Given the description of an element on the screen output the (x, y) to click on. 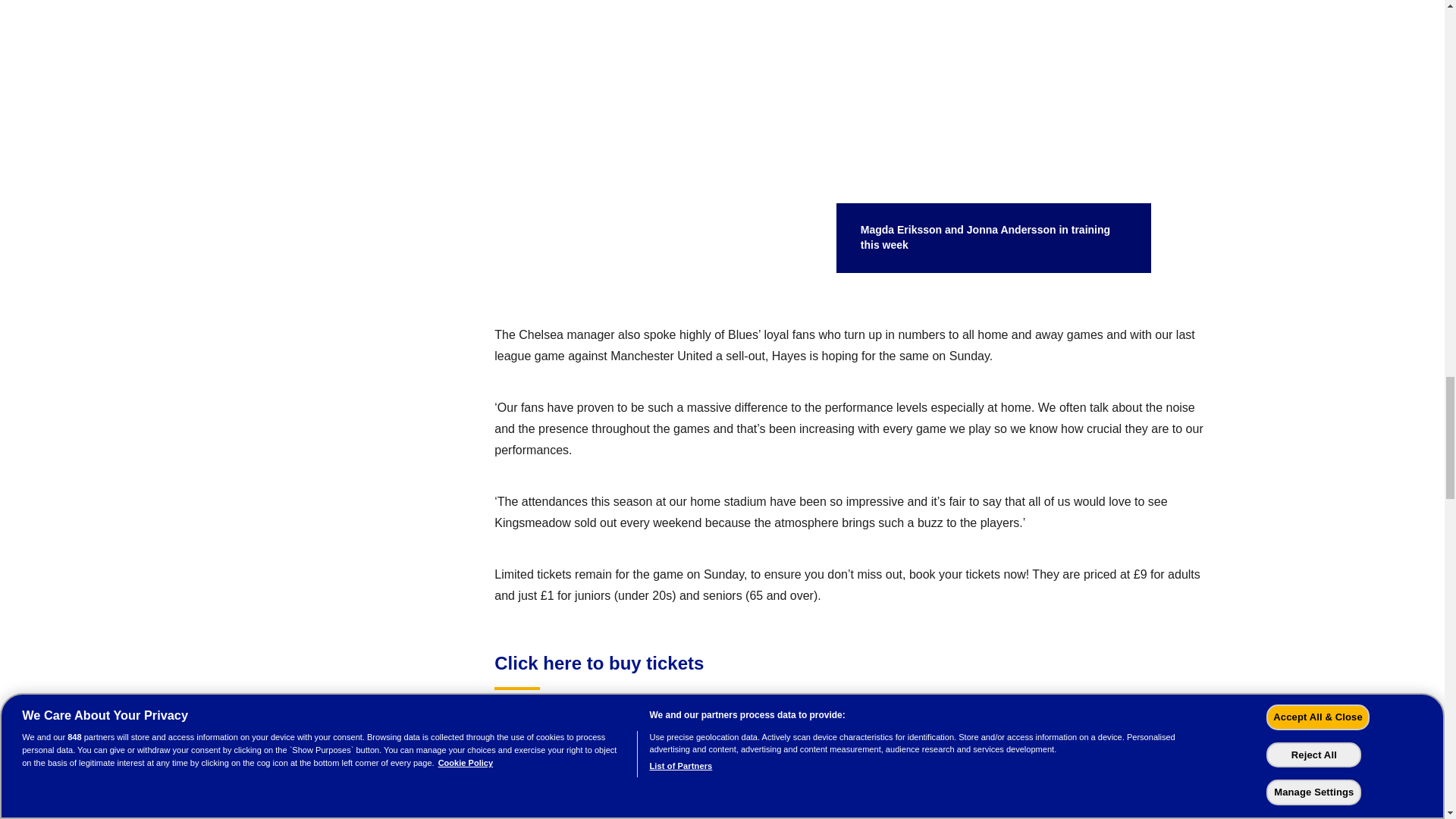
EFL Trophy opponents and fixture dates confirmed (728, 810)
Women (531, 753)
